Given the description of an element on the screen output the (x, y) to click on. 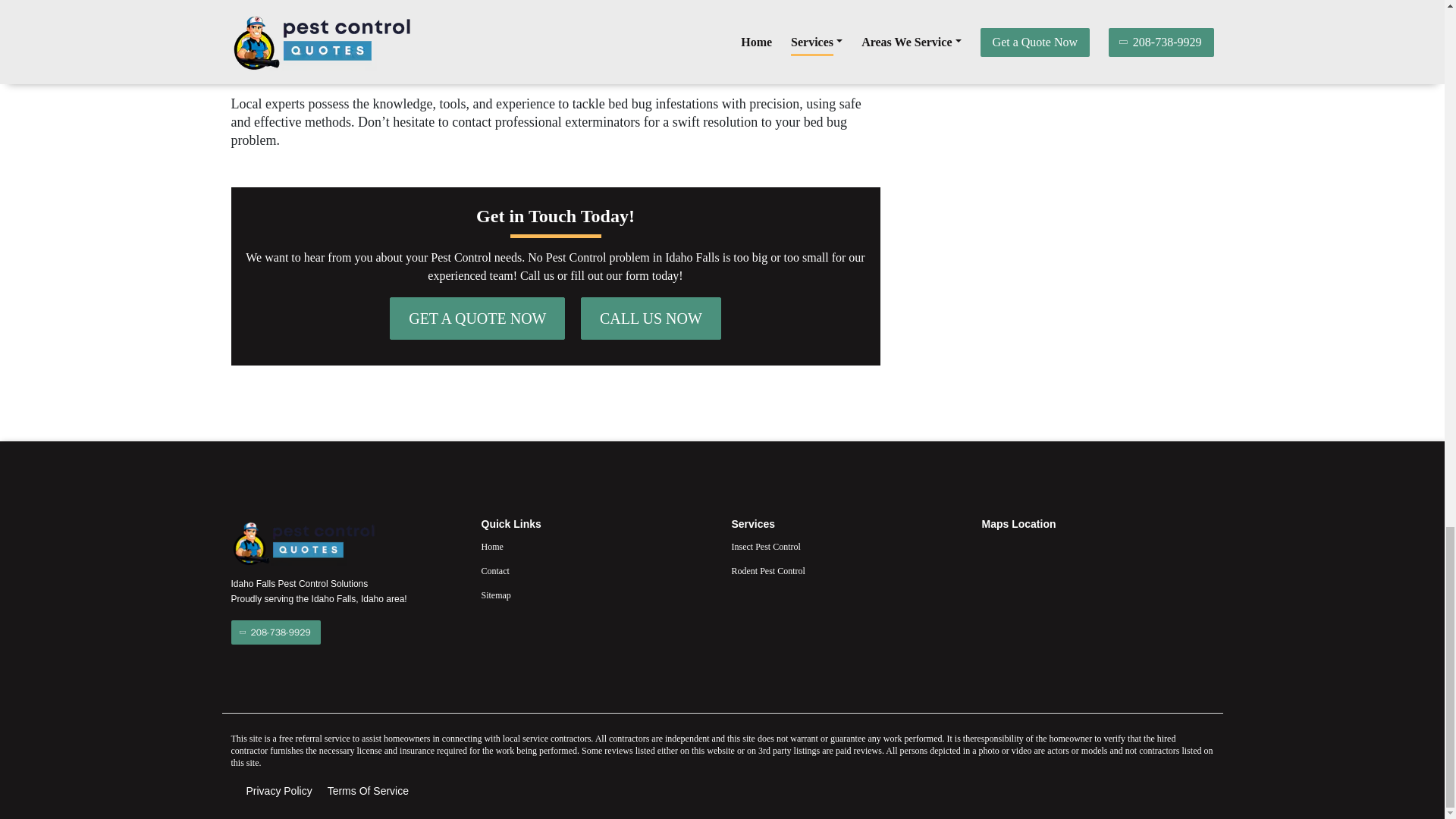
208-738-9929 (275, 631)
GET A QUOTE NOW (477, 318)
CALL US NOW (650, 318)
